Given the description of an element on the screen output the (x, y) to click on. 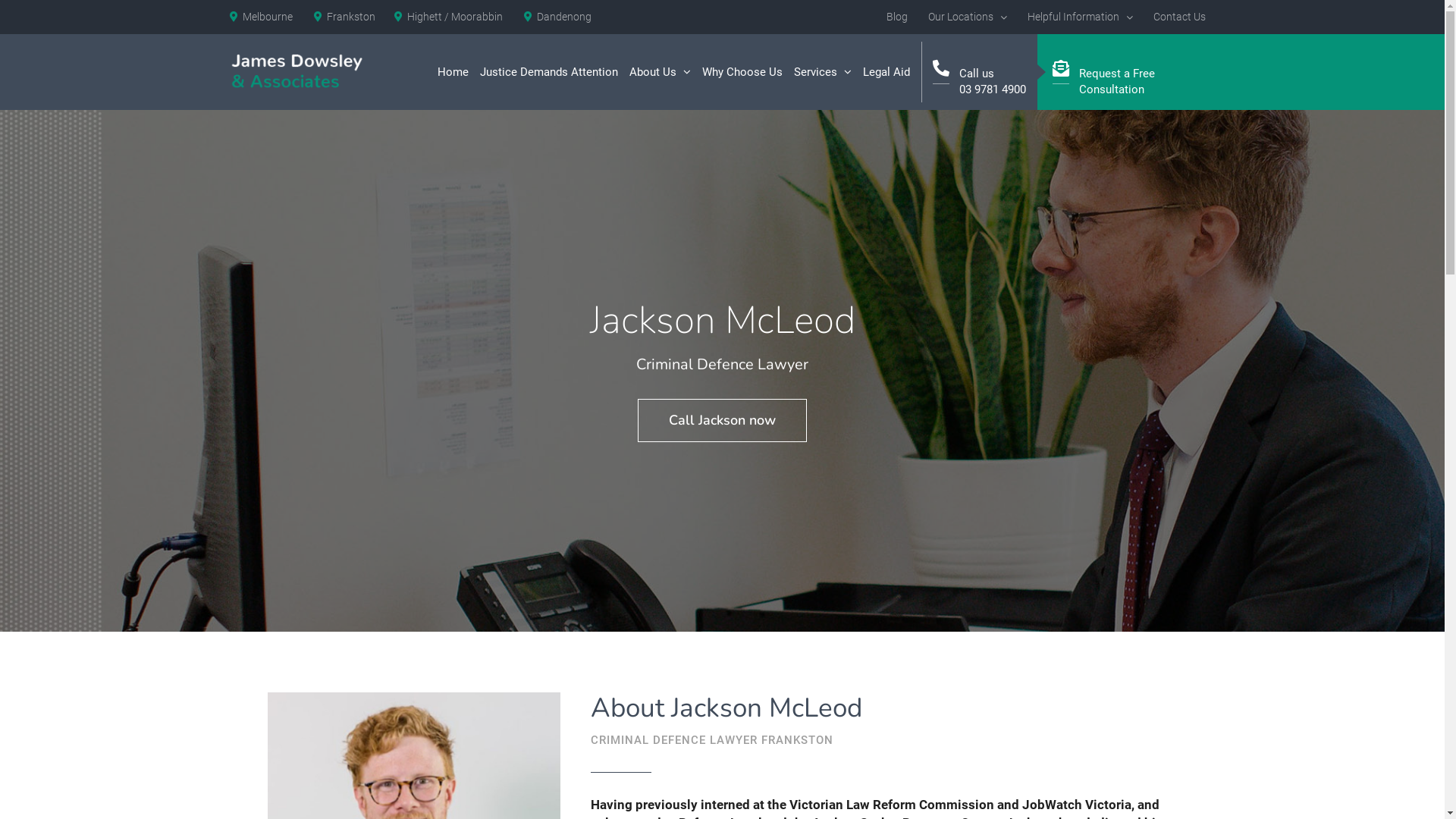
Services Element type: text (821, 71)
About Us Element type: text (659, 71)
Helpful Information Element type: text (1079, 16)
Dandenong Element type: text (556, 16)
Frankston Element type: text (344, 16)
Call Jackson now Element type: text (721, 420)
Request a Free Consultation Element type: text (1128, 71)
Justice Demands Attention Element type: text (548, 71)
Melbourne Element type: text (260, 16)
Legal Aid Element type: text (886, 71)
Why Choose Us Element type: text (742, 71)
Highett / Moorabbin Element type: text (448, 16)
Blog Element type: text (896, 16)
Our Locations Element type: text (966, 16)
Home Element type: text (451, 71)
Contact Us Element type: text (1179, 16)
Call us
03 9781 4900 Element type: text (979, 71)
